Given the description of an element on the screen output the (x, y) to click on. 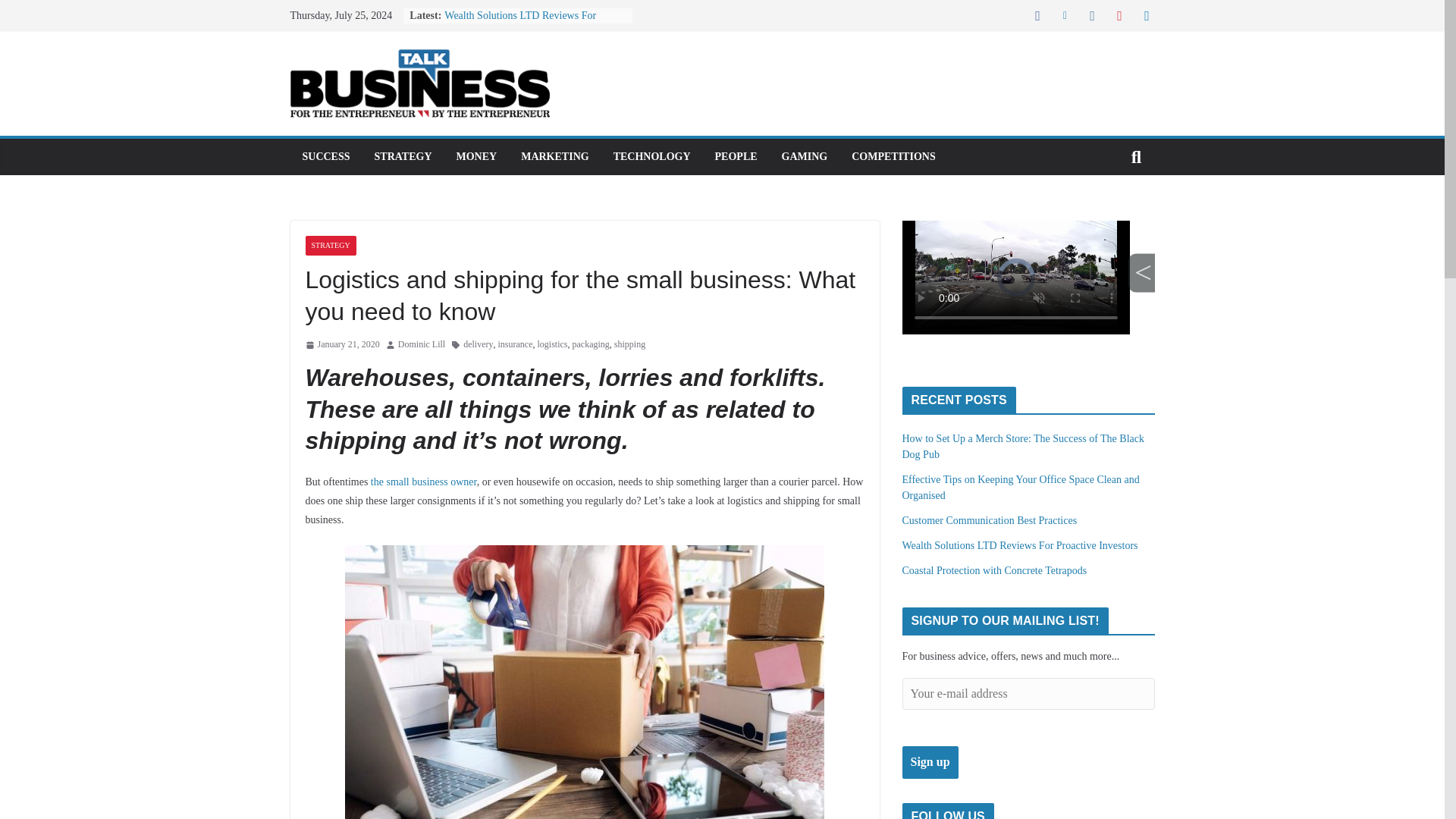
TECHNOLOGY (651, 156)
Sign up (930, 762)
Customer Communication Best Practices (989, 520)
MONEY (477, 156)
shipping (629, 344)
Wealth Solutions LTD Reviews For Proactive Investors (519, 22)
3:50 pm (341, 344)
January 21, 2020 (341, 344)
GAMING (804, 156)
COMPETITIONS (892, 156)
the small business owner (424, 481)
3rd party ad content (1028, 291)
logistics (552, 344)
PEOPLE (735, 156)
packaging (590, 344)
